Given the description of an element on the screen output the (x, y) to click on. 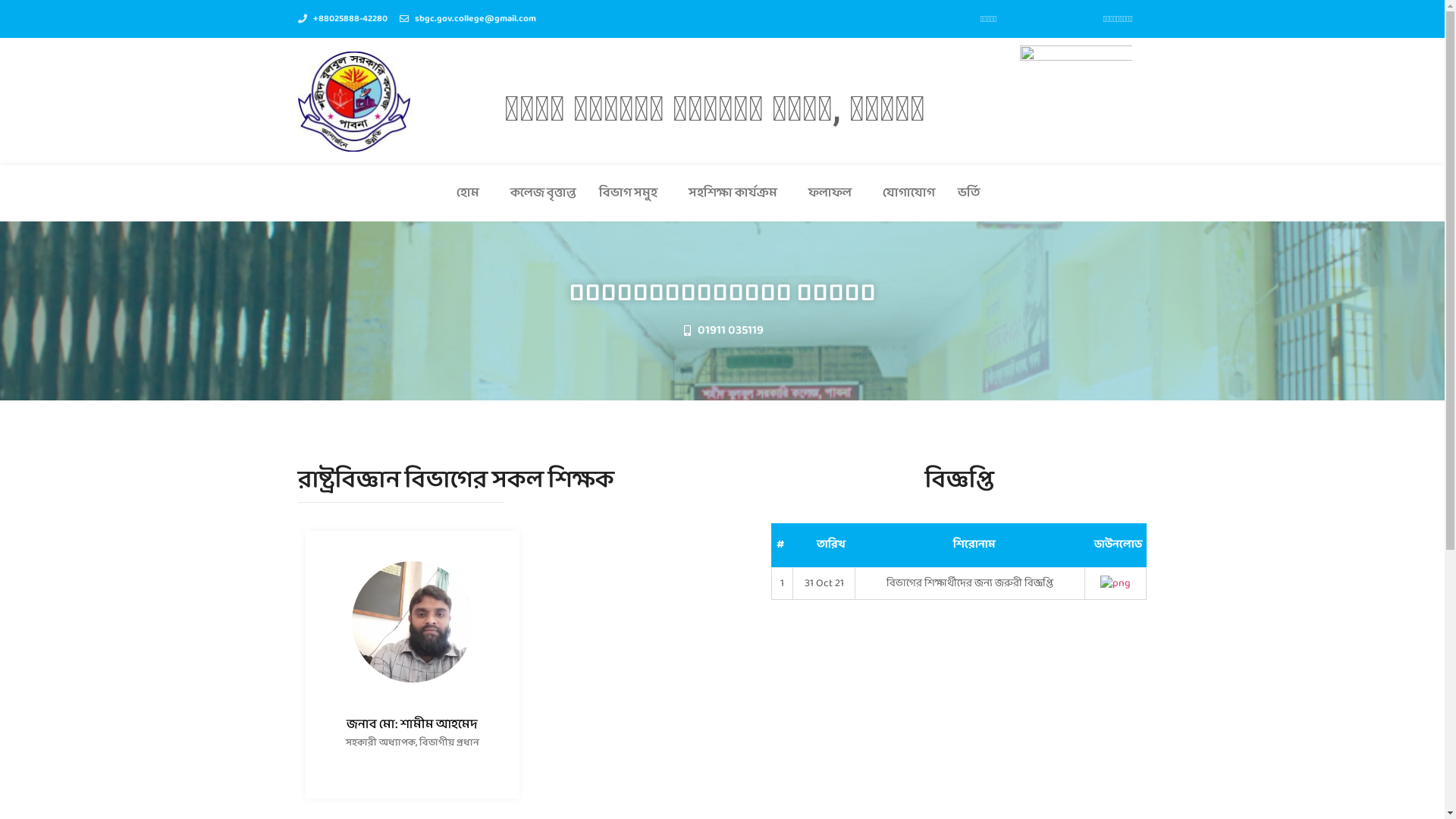
sbgc.gov.college@gmail.com Element type: text (466, 18)
logo Element type: hover (353, 100)
01911 035119 Element type: text (722, 330)
+88025888-42280 Element type: text (341, 18)
